Given the description of an element on the screen output the (x, y) to click on. 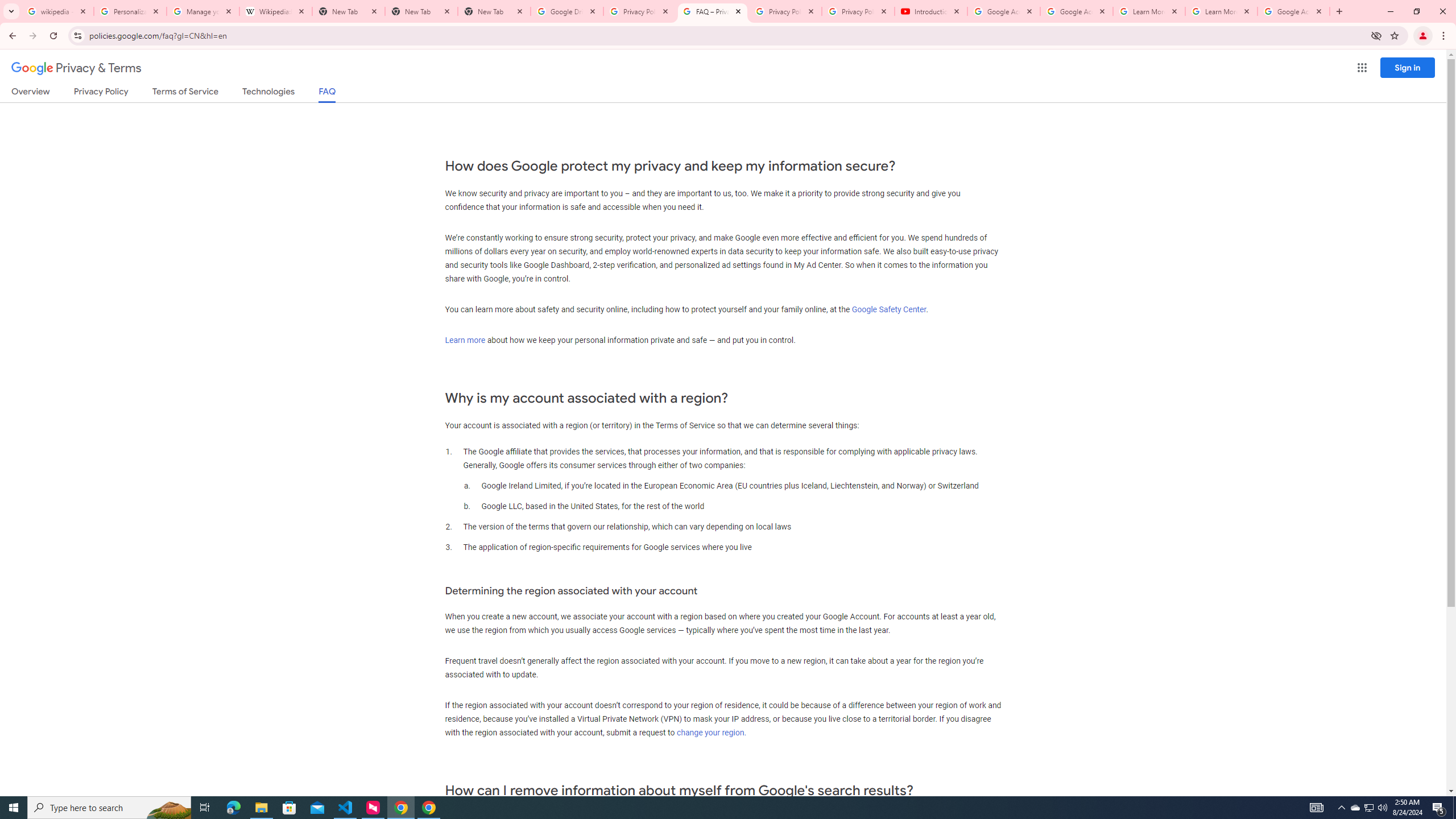
change your region. (710, 732)
Google Account Help (1003, 11)
Introduction | Google Privacy Policy - YouTube (930, 11)
